Given the description of an element on the screen output the (x, y) to click on. 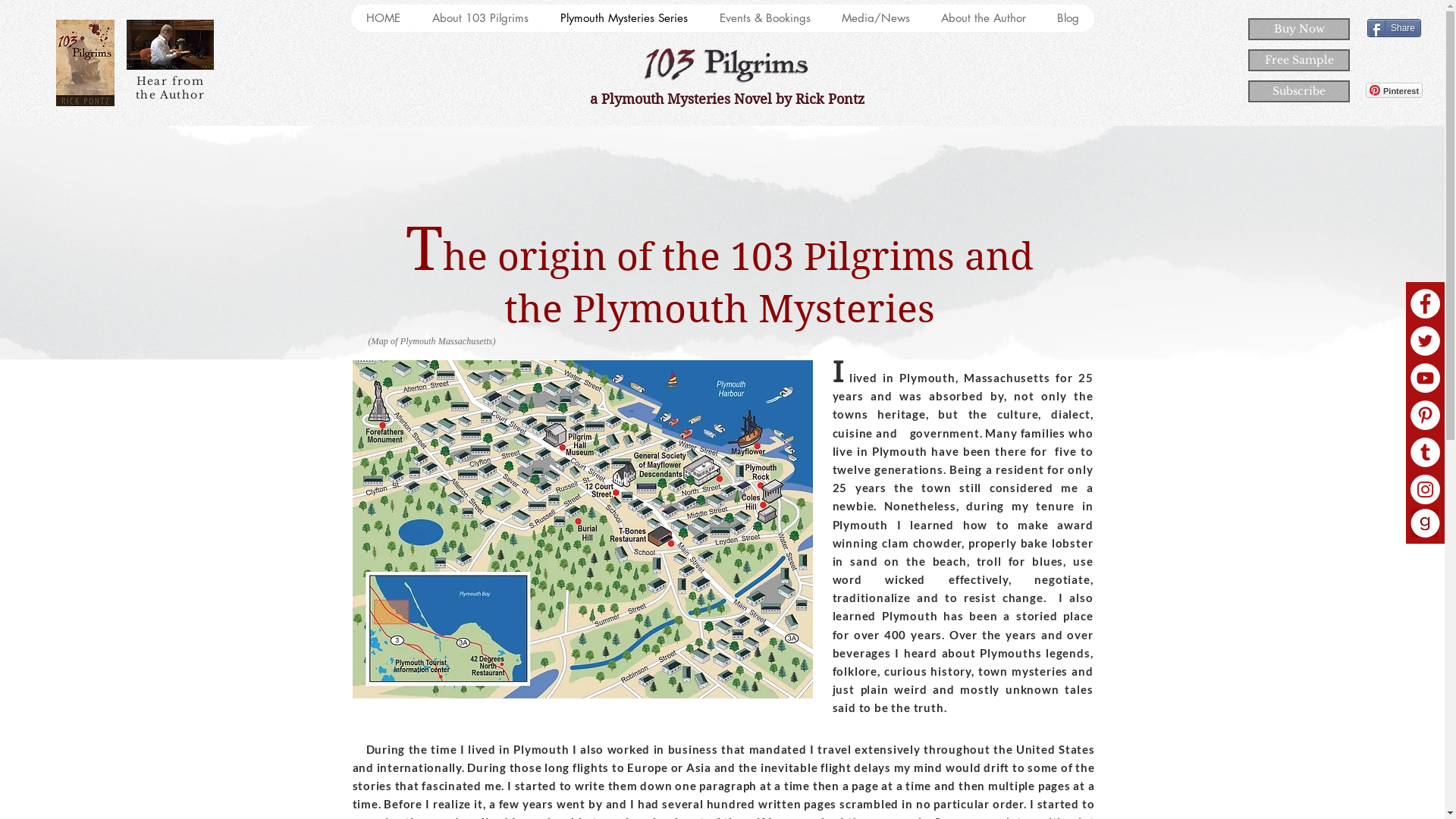
About the Author Element type: text (983, 17)
Subscribe Element type: text (1298, 91)
Buy Now Element type: text (1298, 29)
Pinterest Element type: text (1393, 89)
Events & Bookings Element type: text (764, 17)
About 103 Pilgrims Element type: text (479, 17)
HOME Element type: text (382, 17)
Media/News Element type: text (874, 17)
Plymouth Mysteries Series Element type: text (623, 17)
Blog Element type: text (1066, 17)
Free Sample Element type: text (1298, 60)
Twitter Tweet Element type: hover (1385, 60)
 a Plymouth Mysteries Novel by Rick Pontz Element type: text (725, 98)
Share Element type: text (1394, 27)
